Given the description of an element on the screen output the (x, y) to click on. 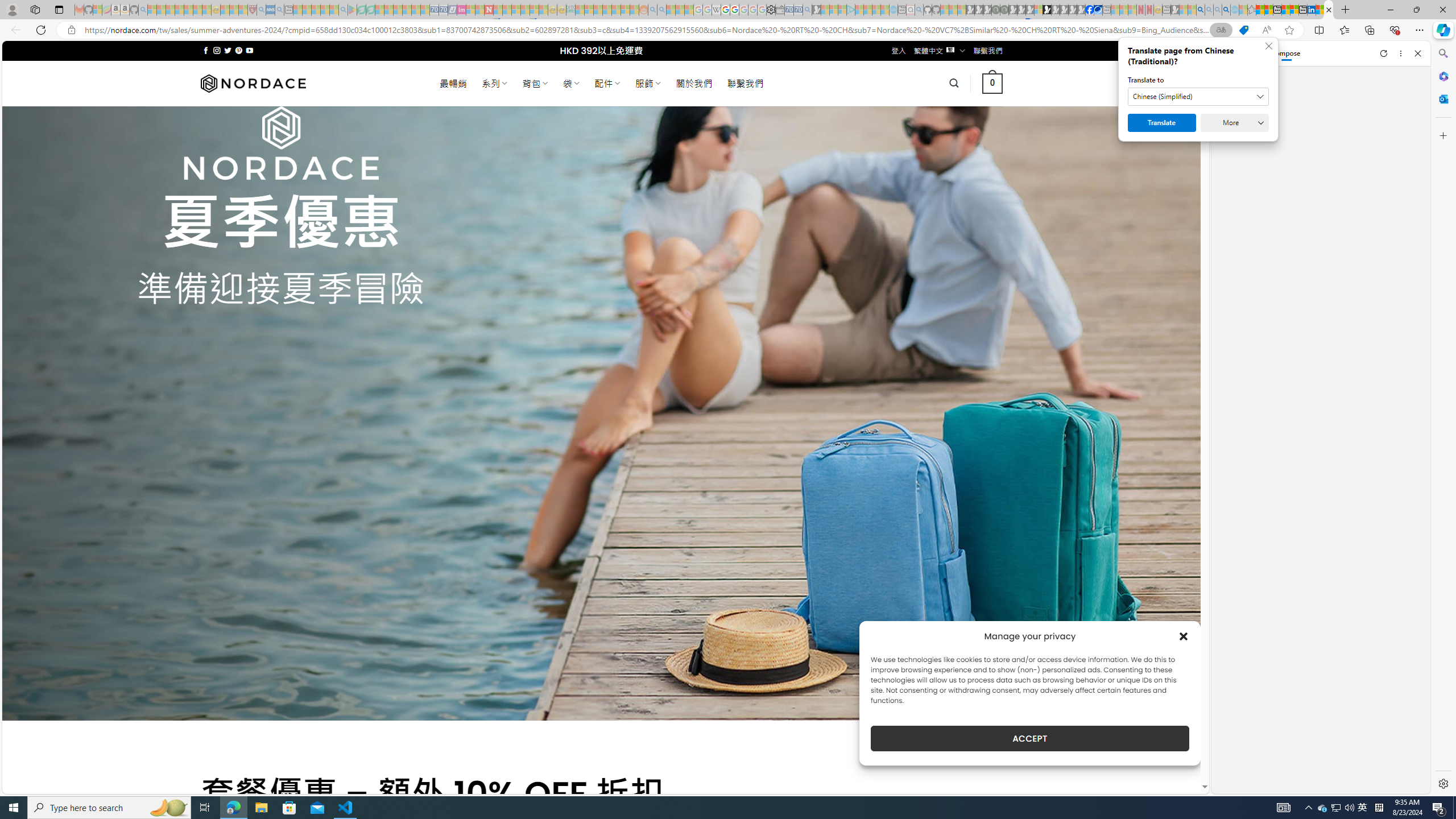
google - Search - Sleeping (342, 9)
MSNBC - MSN - Sleeping (579, 9)
